Given the description of an element on the screen output the (x, y) to click on. 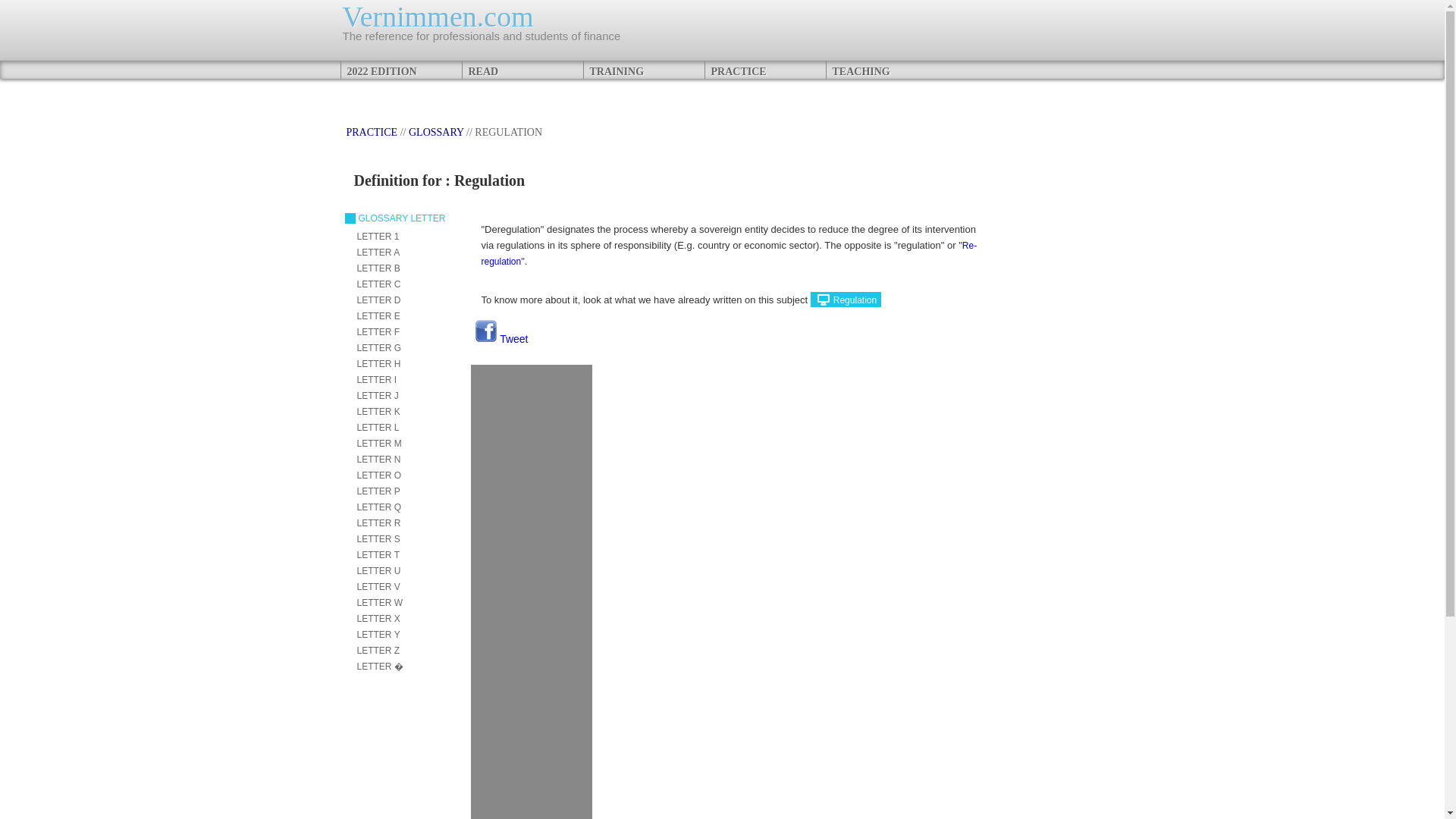
GLOSSARY (436, 132)
Regulation (845, 299)
LETTER 1 (377, 235)
2022 EDITION (400, 69)
Share on Facebook (485, 331)
PRACTICE (371, 132)
Vernimmen.com (438, 16)
READ (521, 69)
PRACTICE (764, 69)
LETTER B (377, 267)
